Given the description of an element on the screen output the (x, y) to click on. 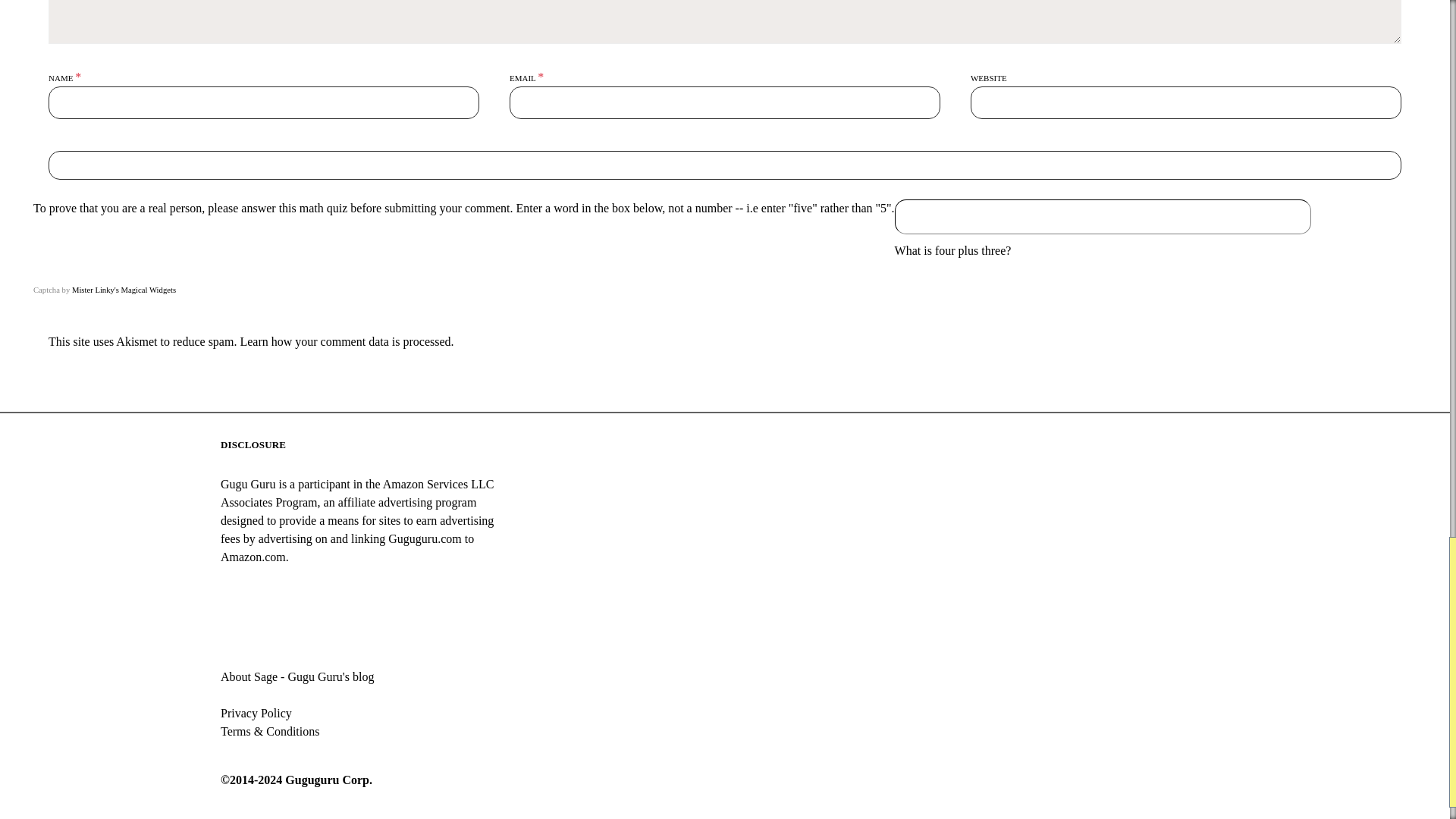
Post Comment (724, 165)
